Given the description of an element on the screen output the (x, y) to click on. 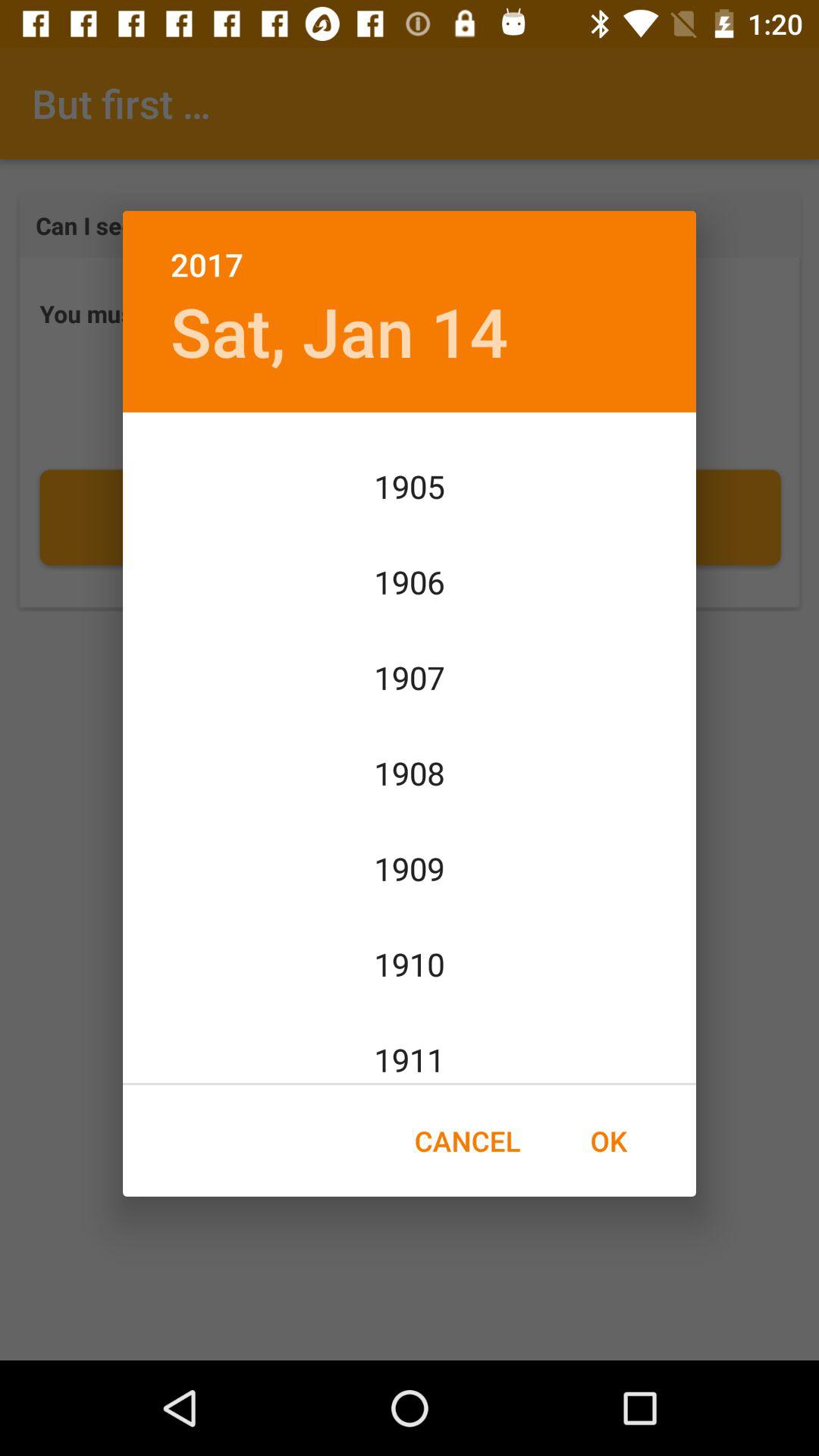
flip until the sat, jan 14 item (339, 331)
